Given the description of an element on the screen output the (x, y) to click on. 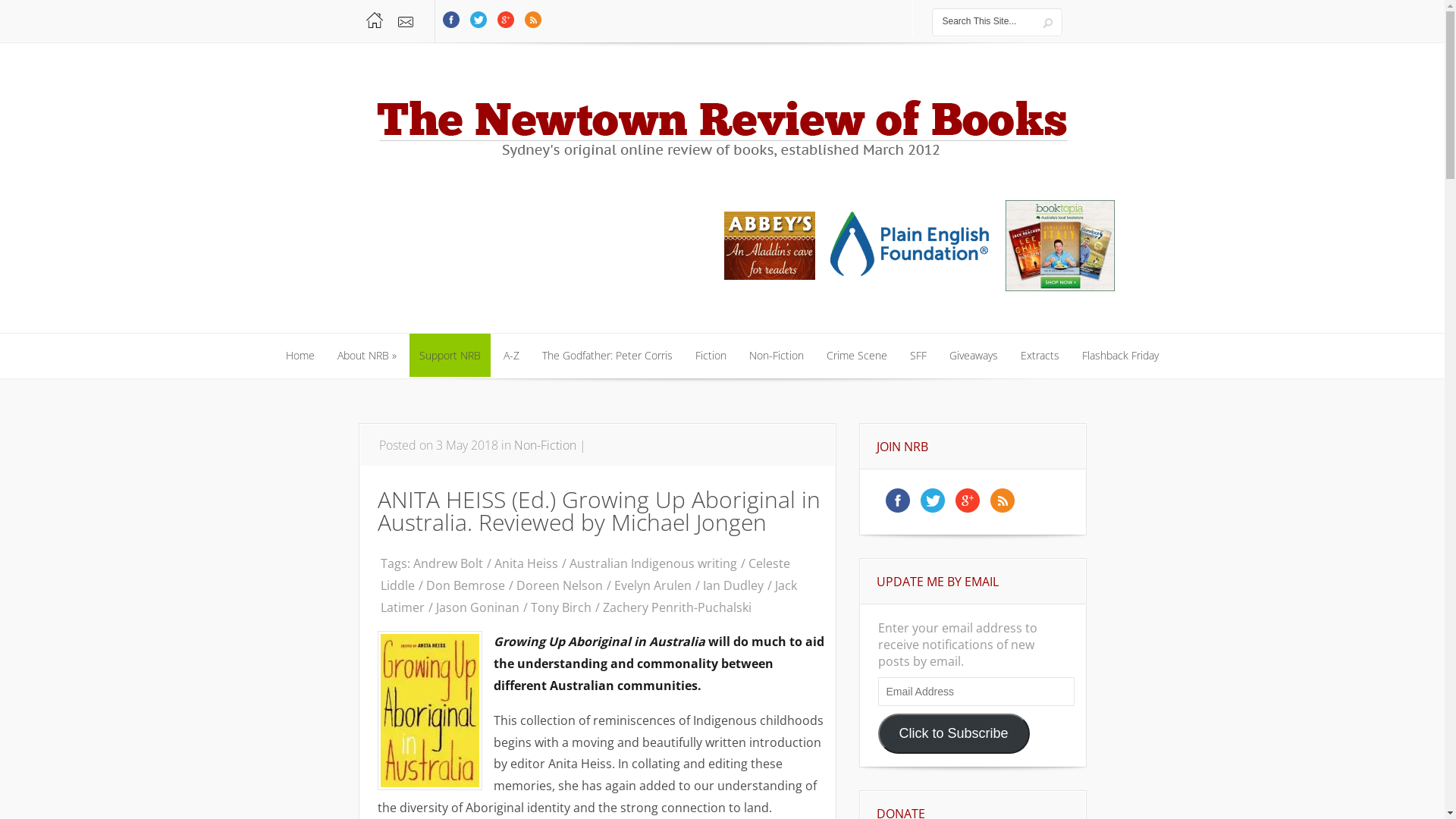
Jason Goninan Element type: text (478, 607)
The Godfather: Peter Corris Element type: text (607, 355)
Home Element type: text (300, 355)
Contact NRB Element type: hover (405, 20)
Join NRB on Google+ Element type: hover (967, 511)
Australian Indigenous writing Element type: text (654, 563)
Flashback Friday Element type: text (1120, 355)
Click to Subscribe Element type: text (953, 733)
Zachery Penrith-Puchalski Element type: text (678, 607)
Celeste Liddle Element type: text (585, 574)
Like NRB on Facebook Element type: hover (451, 26)
Subscribe to the NRB feed Element type: hover (1001, 511)
SFF Element type: text (918, 355)
Anita Heiss Element type: text (527, 563)
Like NRB on Facebook Element type: hover (898, 511)
Follow NRB on Twitter Element type: hover (478, 26)
Don Bemrose Element type: text (467, 585)
Evelyn Arulen Element type: text (654, 585)
Non-Fiction Element type: text (545, 444)
Join NRB on Google+ Element type: hover (506, 26)
Subscribe to the NRB feed Element type: hover (532, 26)
Doreen Nelson Element type: text (560, 585)
A-Z Element type: text (511, 355)
Tony Birch Element type: text (562, 607)
Follow NRB on Twitter Element type: hover (933, 511)
Jack Latimer Element type: text (588, 596)
Fiction Element type: text (710, 355)
Extracts Element type: text (1039, 355)
NRB Home Element type: hover (374, 20)
About NRB Element type: text (366, 355)
Andrew Bolt Element type: text (449, 563)
Ian Dudley Element type: text (734, 585)
Crime Scene Element type: text (856, 355)
Giveaways Element type: text (973, 355)
Non-Fiction Element type: text (776, 355)
Support NRB Element type: text (449, 355)
